Given the description of an element on the screen output the (x, y) to click on. 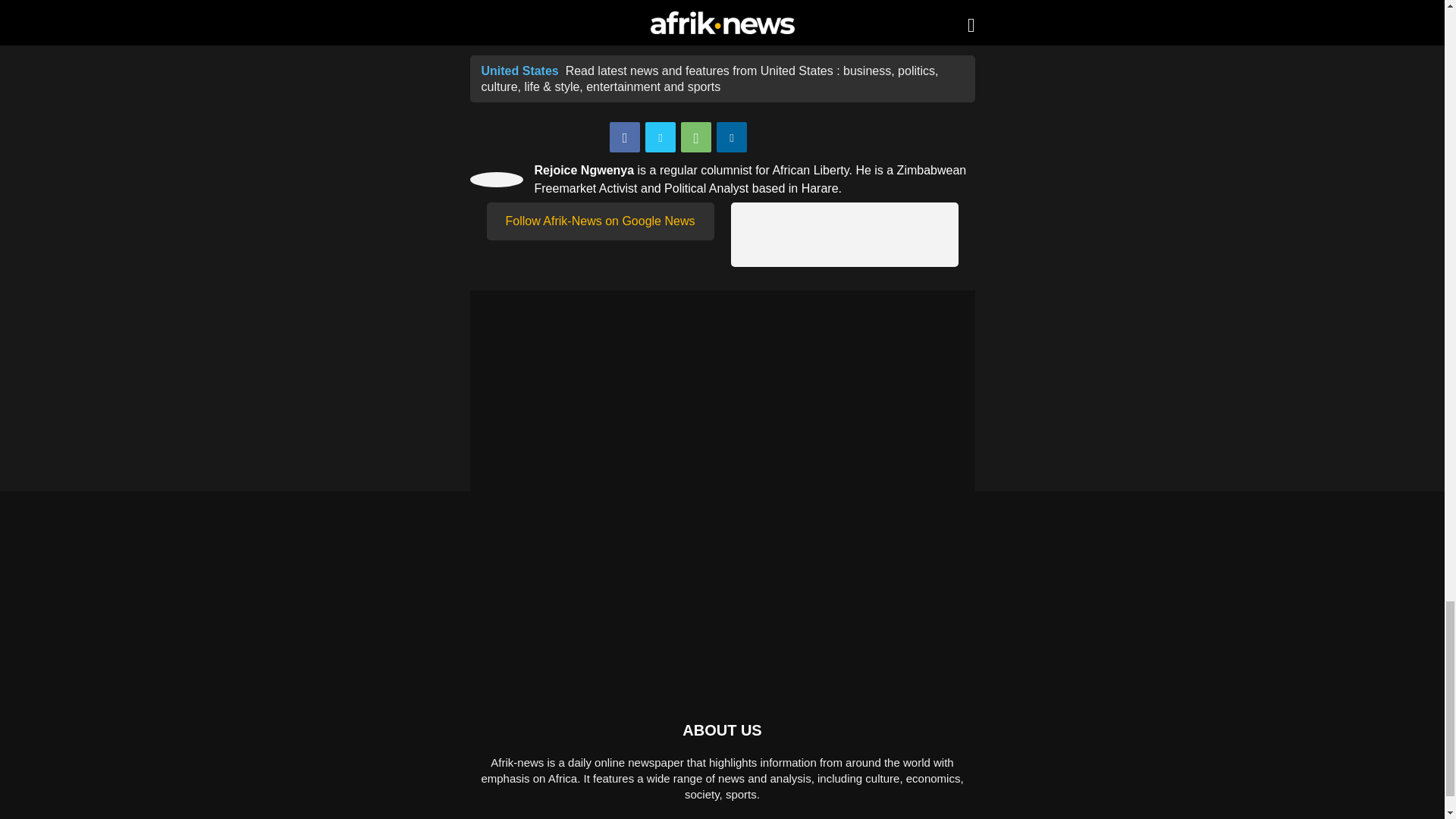
Support us! Buy us a coffee! (844, 234)
Linkedin (731, 137)
Facebook Like (794, 138)
Twitter (660, 137)
Facebook (625, 137)
WhatsApp (696, 137)
